Given the description of an element on the screen output the (x, y) to click on. 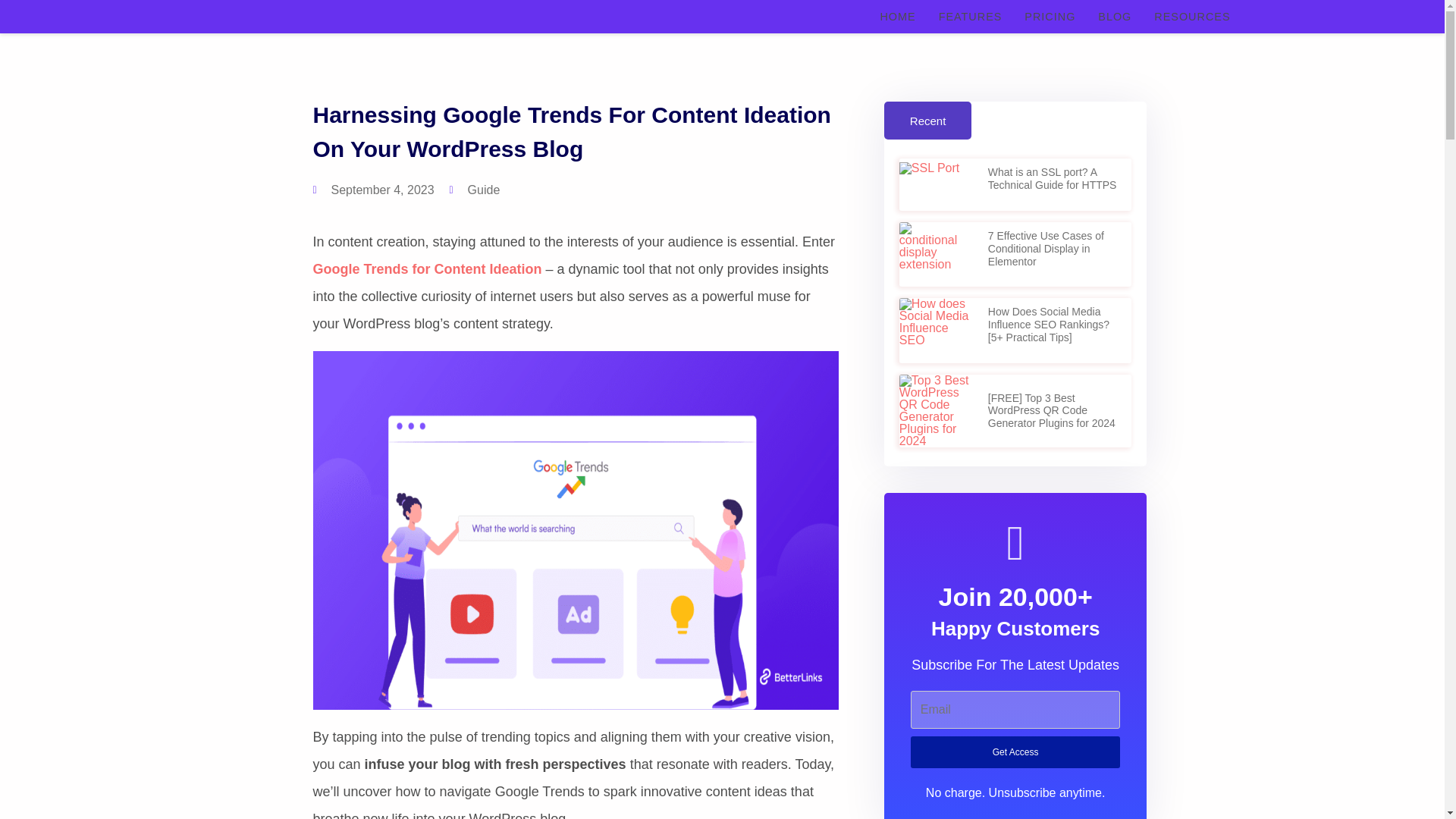
Recent (927, 120)
FEATURES (970, 16)
Get Access (1016, 752)
What is an SSL port? A Technical Guide for HTTPS (1052, 178)
RESOURCES (1191, 16)
7 Effective Use Cases of Conditional Display in Elementor (1045, 248)
PRICING (1049, 16)
September 4, 2023 (373, 190)
BLOG (1114, 16)
